Given the description of an element on the screen output the (x, y) to click on. 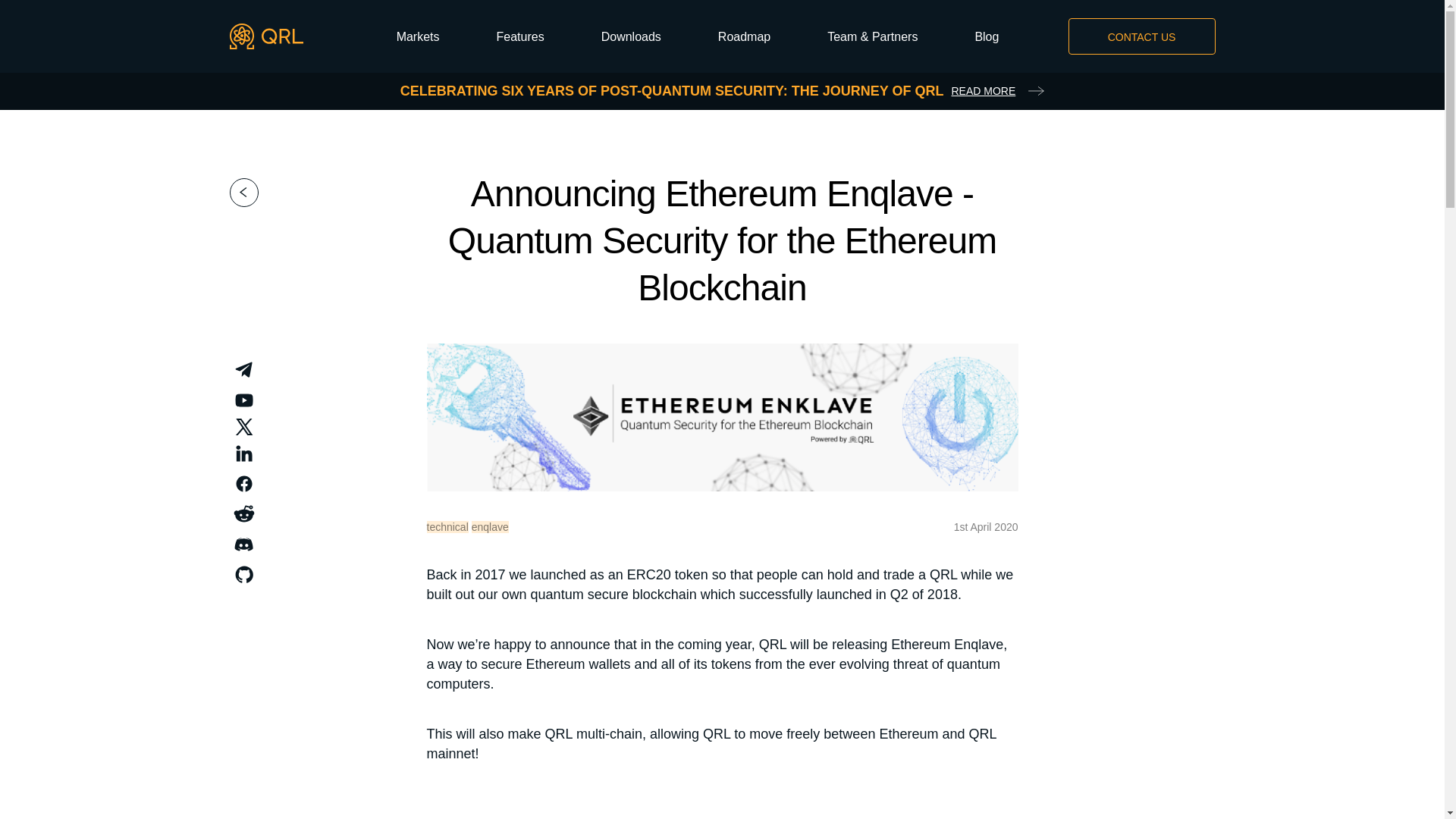
Roadmap (743, 36)
follow on twitter (242, 426)
GitHub (242, 574)
CONTACT US (1140, 36)
Reddit page (242, 513)
Features (520, 36)
Discord page (242, 544)
Markets (417, 36)
Blog (986, 36)
Downloads (631, 36)
